Given the description of an element on the screen output the (x, y) to click on. 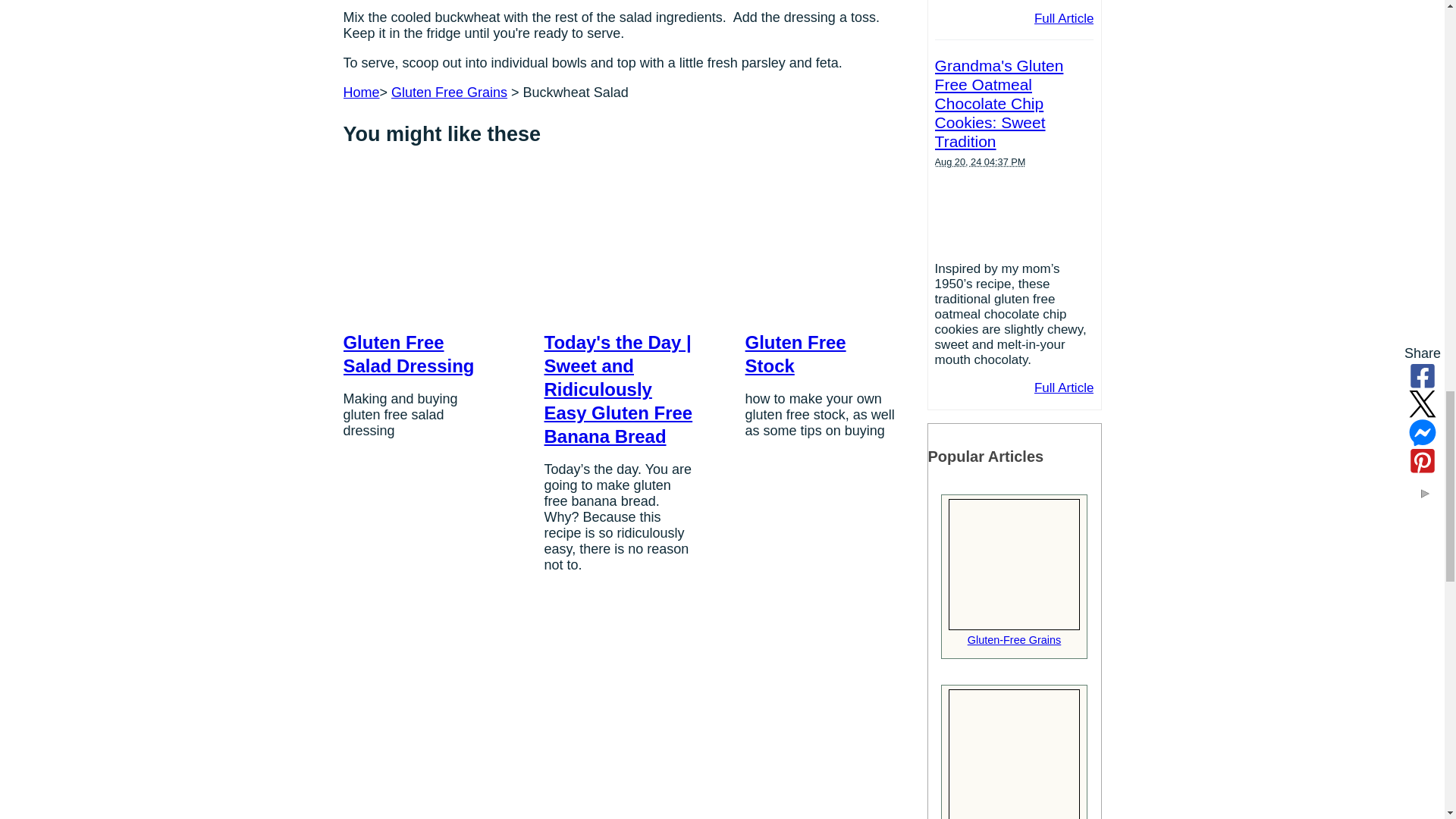
2024-08-20T16:37:28-0400 (980, 161)
Home (360, 92)
Gluten Free Stock (795, 353)
Gluten Free Grains (448, 92)
Go to Celiac and Miscarriage (1014, 814)
Gluten Free Salad Dressing (408, 353)
pregnant belly with hands forming a heart. (1014, 754)
